Given the description of an element on the screen output the (x, y) to click on. 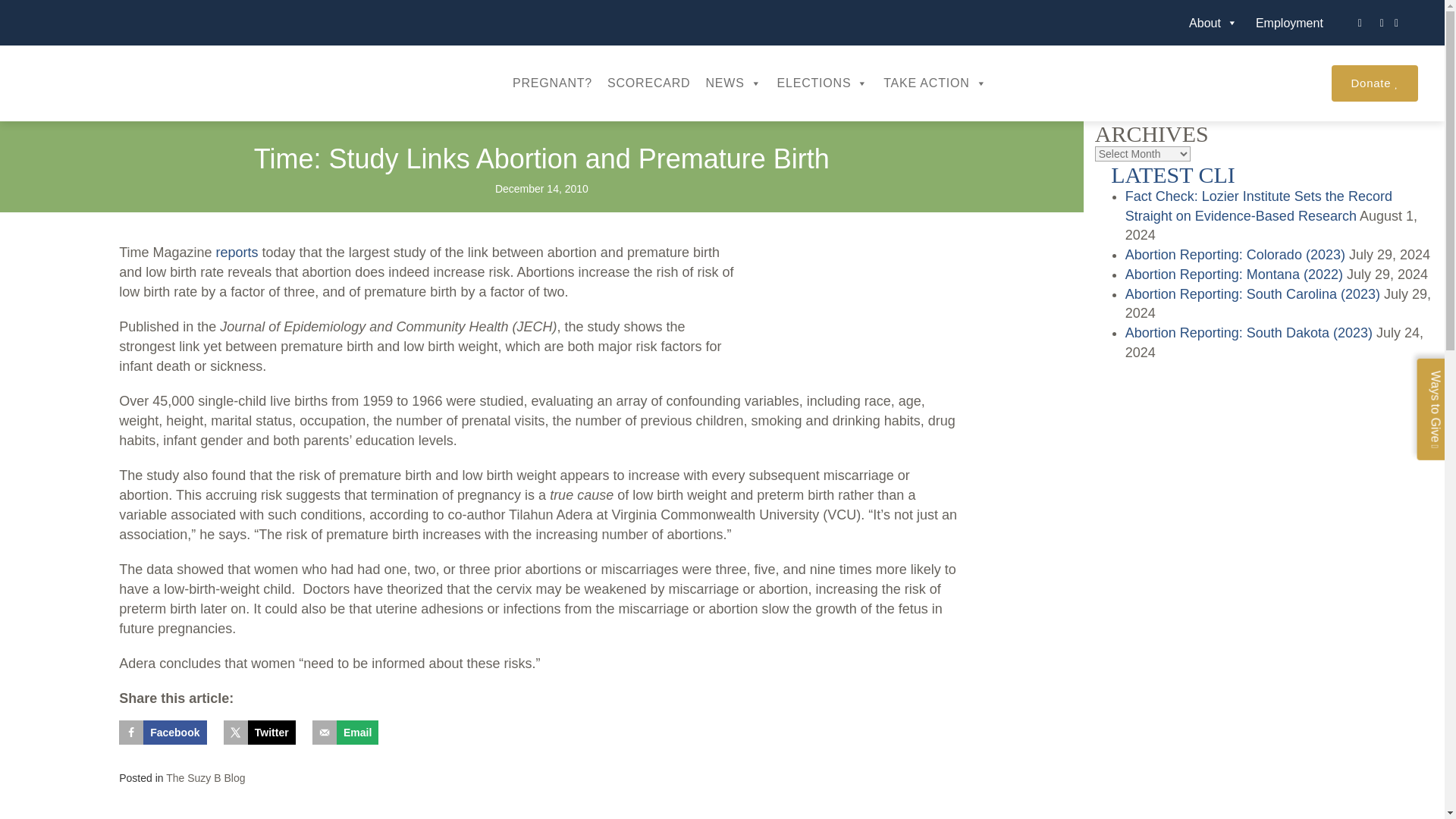
Share on X (259, 732)
About (1212, 21)
Send over email (345, 732)
Share on Facebook (162, 732)
